Given the description of an element on the screen output the (x, y) to click on. 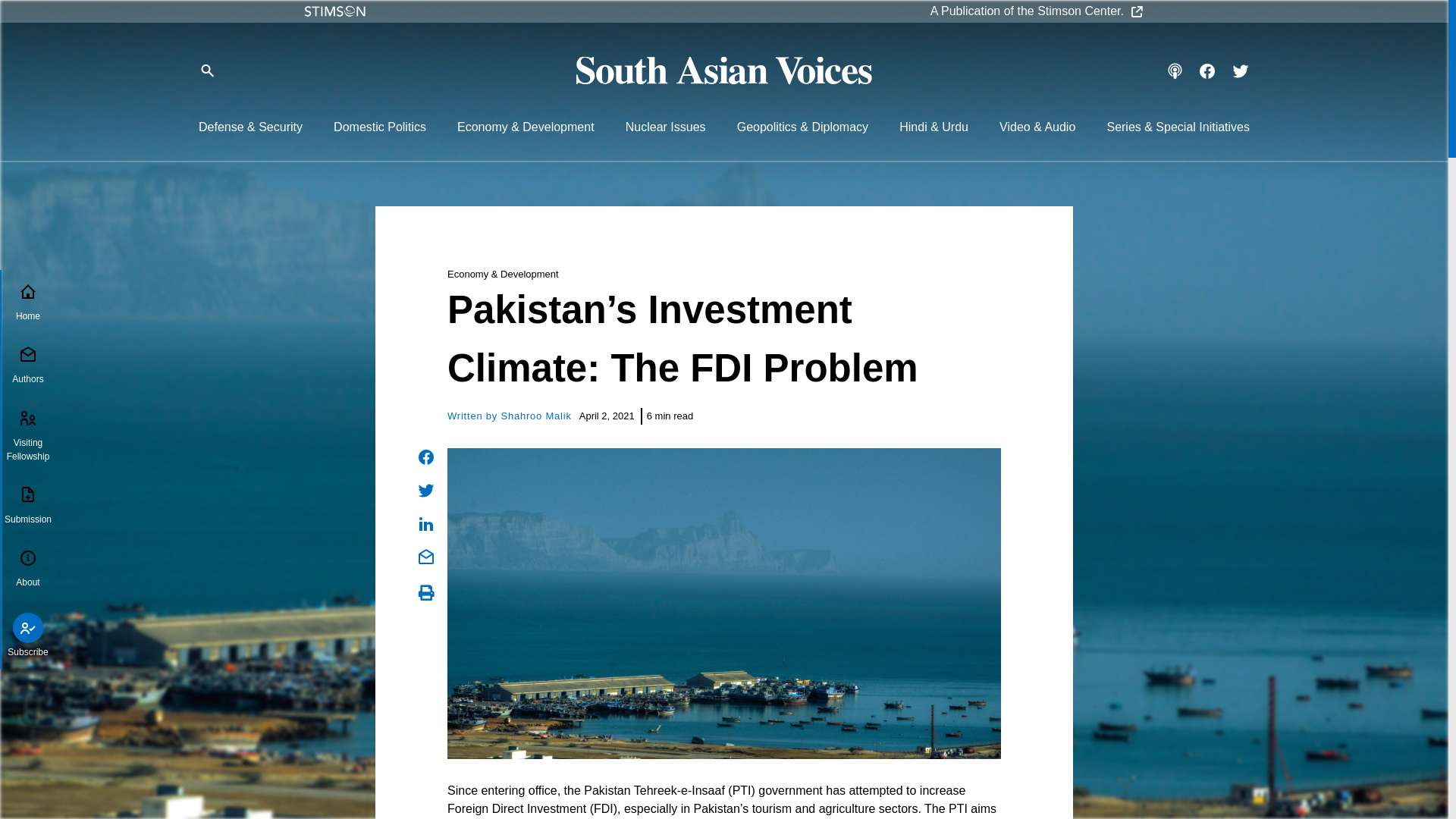
Print it (426, 592)
Share at Facebook (425, 456)
A Publication of the Stimson Center. (1037, 11)
Send via email (425, 556)
Domestic Politics (379, 126)
Visiting Fellowship (28, 435)
Submission (27, 506)
Tweet It (425, 490)
Nuclear Issues (666, 126)
Share at LinkedIn (425, 524)
